Given the description of an element on the screen output the (x, y) to click on. 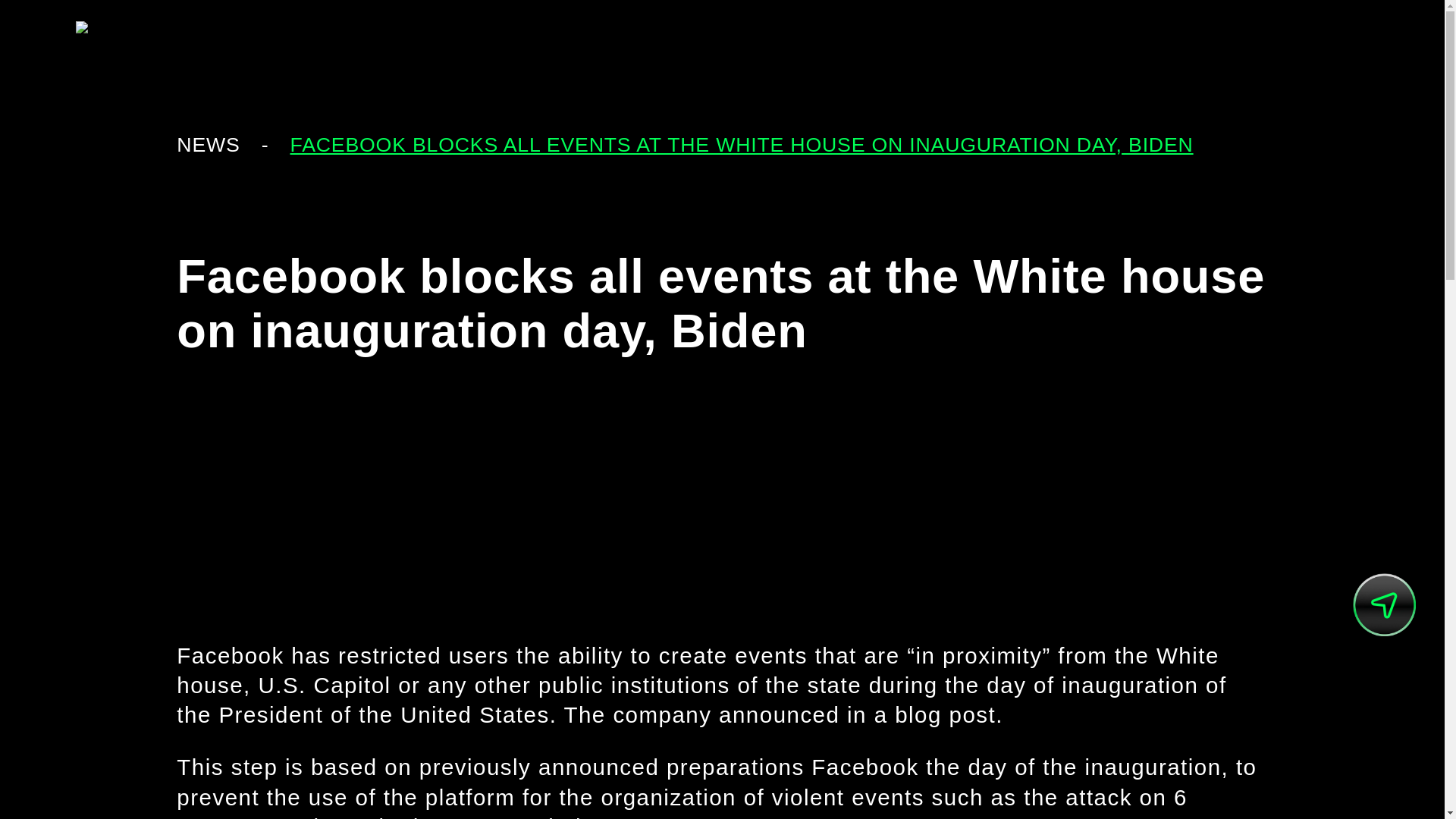
NEWS (208, 144)
